Given the description of an element on the screen output the (x, y) to click on. 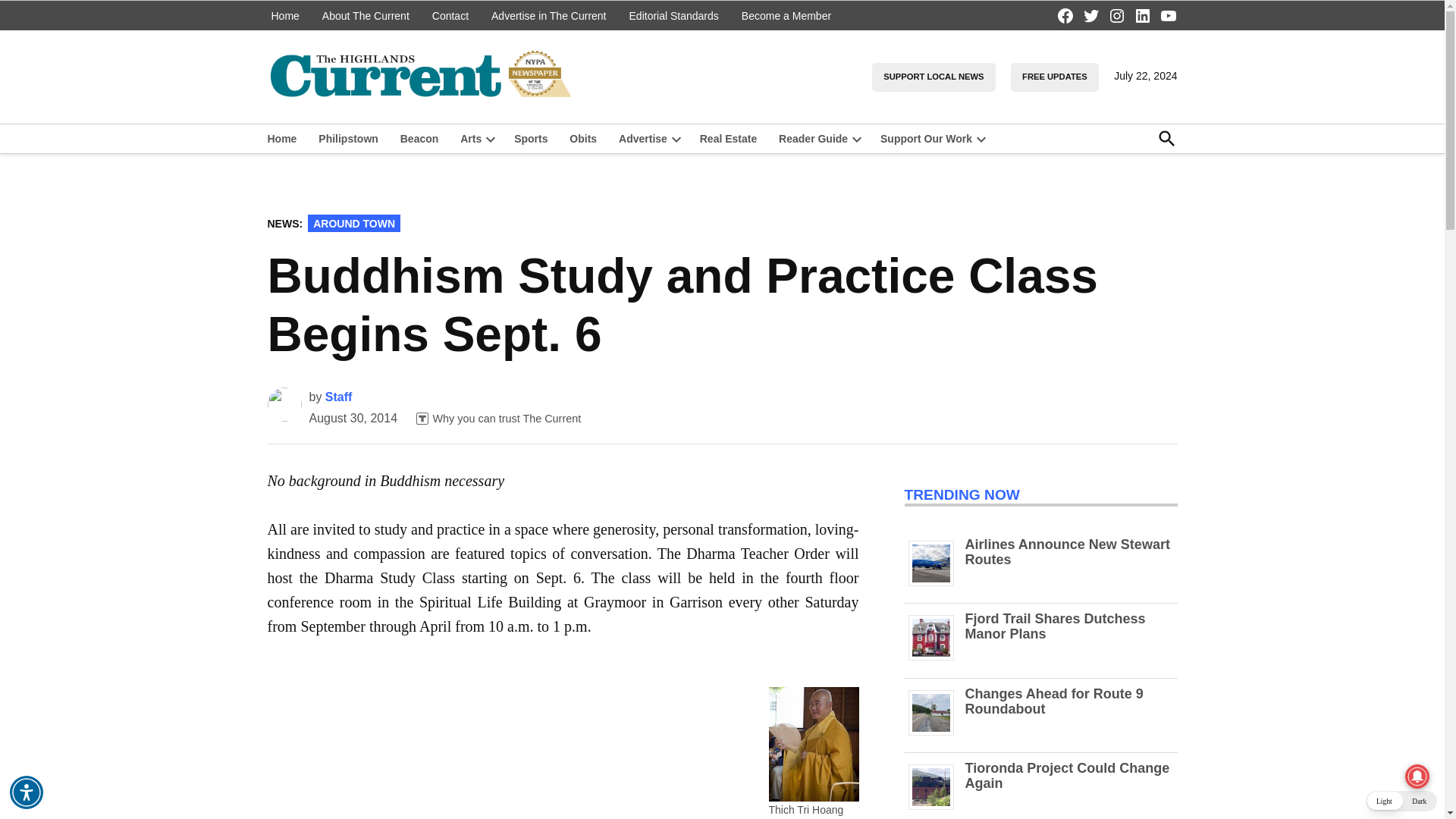
Airlines Announce New Stewart Routes (936, 585)
Tioronda Project Could Change Again (1066, 775)
Fjord Trail Shares Dutchess Manor Plans (936, 659)
Tioronda Project Could Change Again (936, 809)
Changes Ahead for Route 9 Roundabout (1052, 701)
Airlines Announce New Stewart Routes (1066, 552)
Fjord Trail Shares Dutchess Manor Plans (1053, 625)
Accessibility Menu (26, 792)
Changes Ahead for Route 9 Roundabout (936, 735)
